Given the description of an element on the screen output the (x, y) to click on. 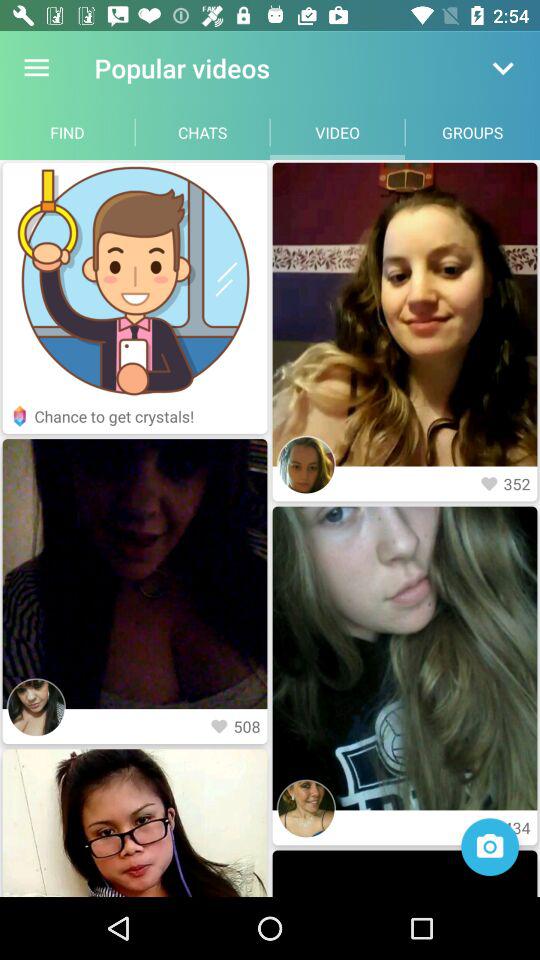
camera open option (490, 847)
